Given the description of an element on the screen output the (x, y) to click on. 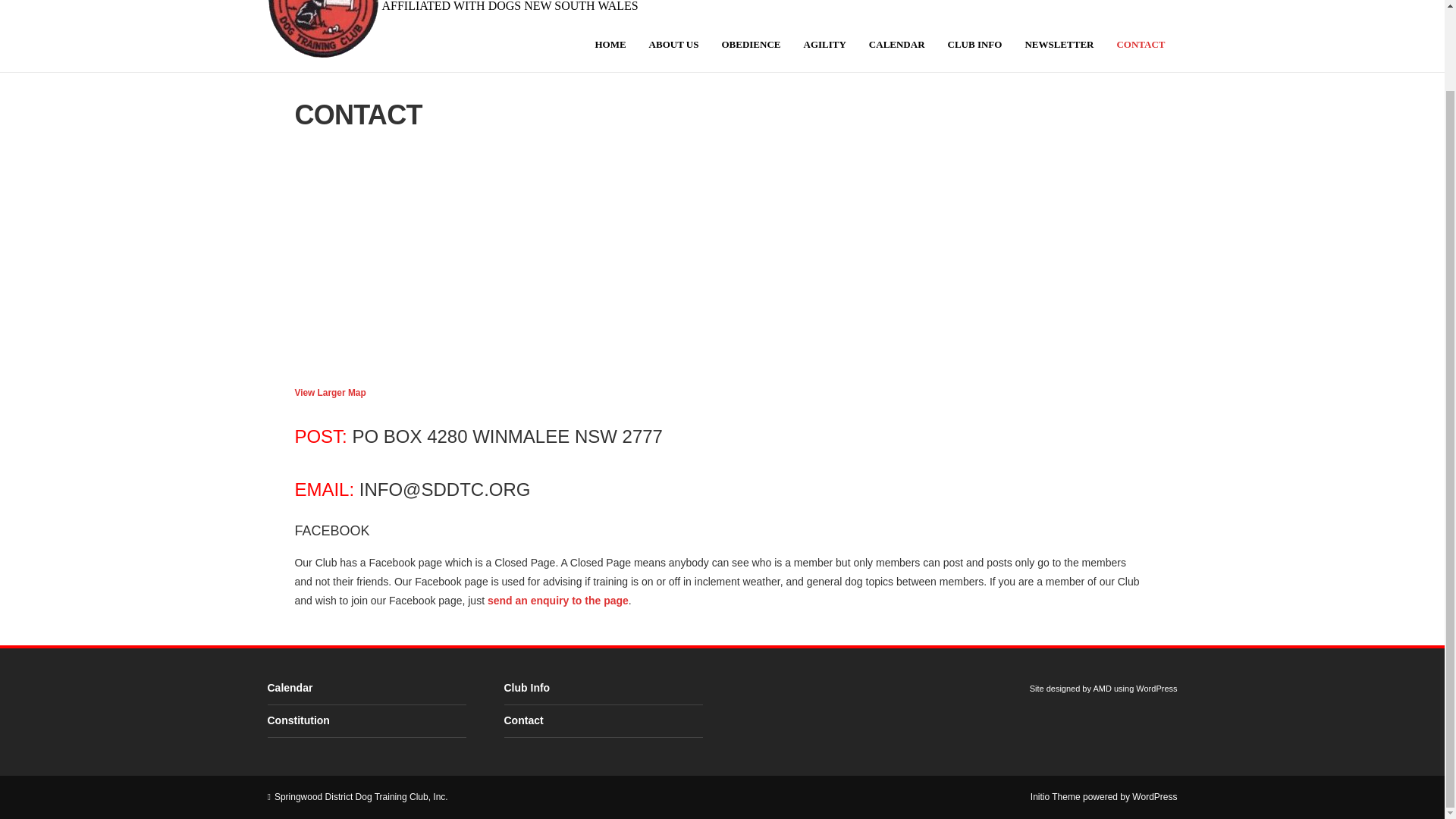
Calendar (896, 44)
Contact (1140, 44)
CALENDAR (896, 44)
Obedience (751, 44)
Club Info (974, 44)
WordPress (1154, 796)
About Us (673, 44)
AMD (1101, 687)
Agility (824, 44)
Club Facebook page (557, 600)
CLUB INFO (974, 44)
Calendar (289, 687)
AGILITY (824, 44)
Contact (523, 720)
OBEDIENCE (751, 44)
